Given the description of an element on the screen output the (x, y) to click on. 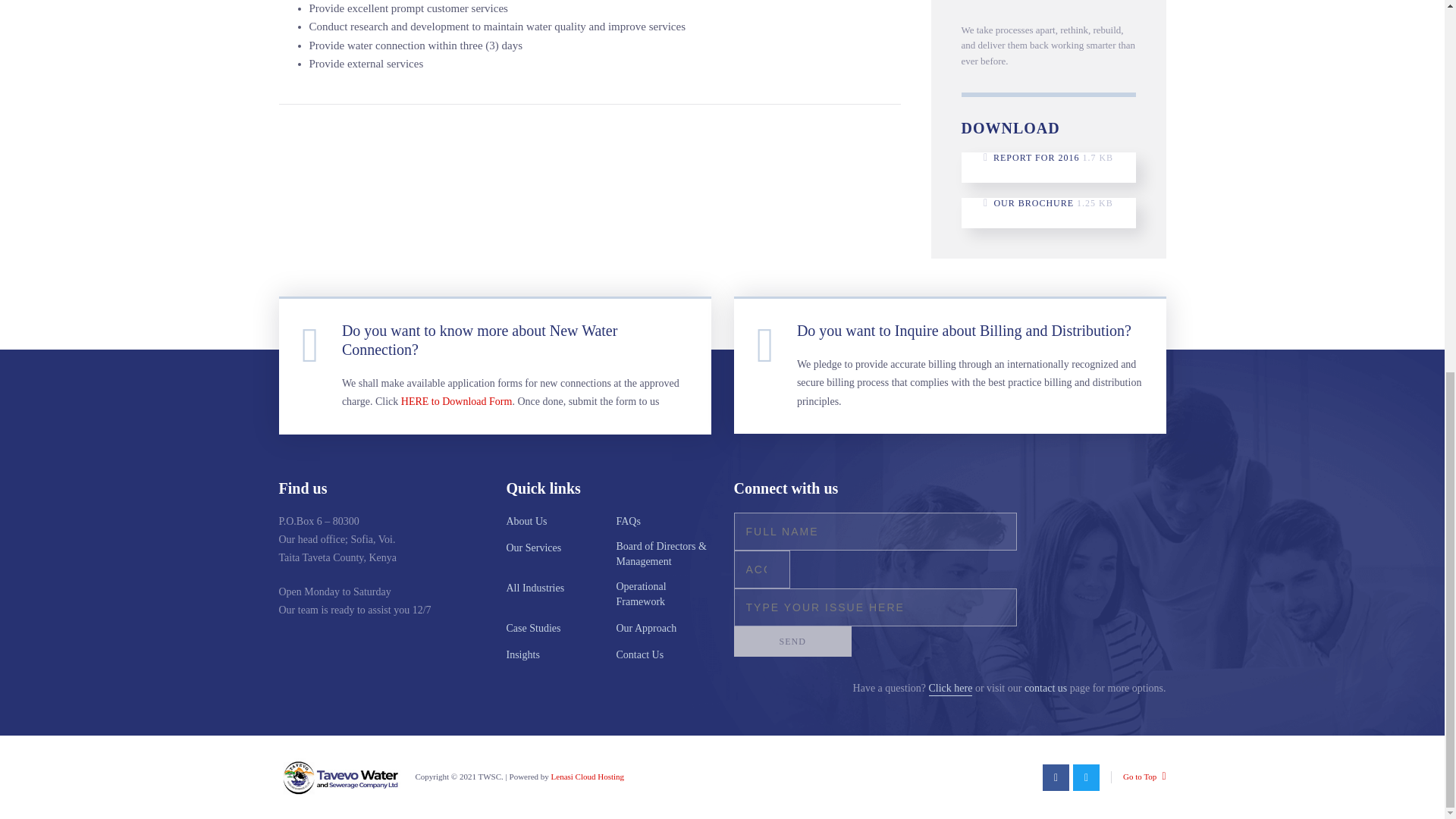
Send (792, 641)
